Given the description of an element on the screen output the (x, y) to click on. 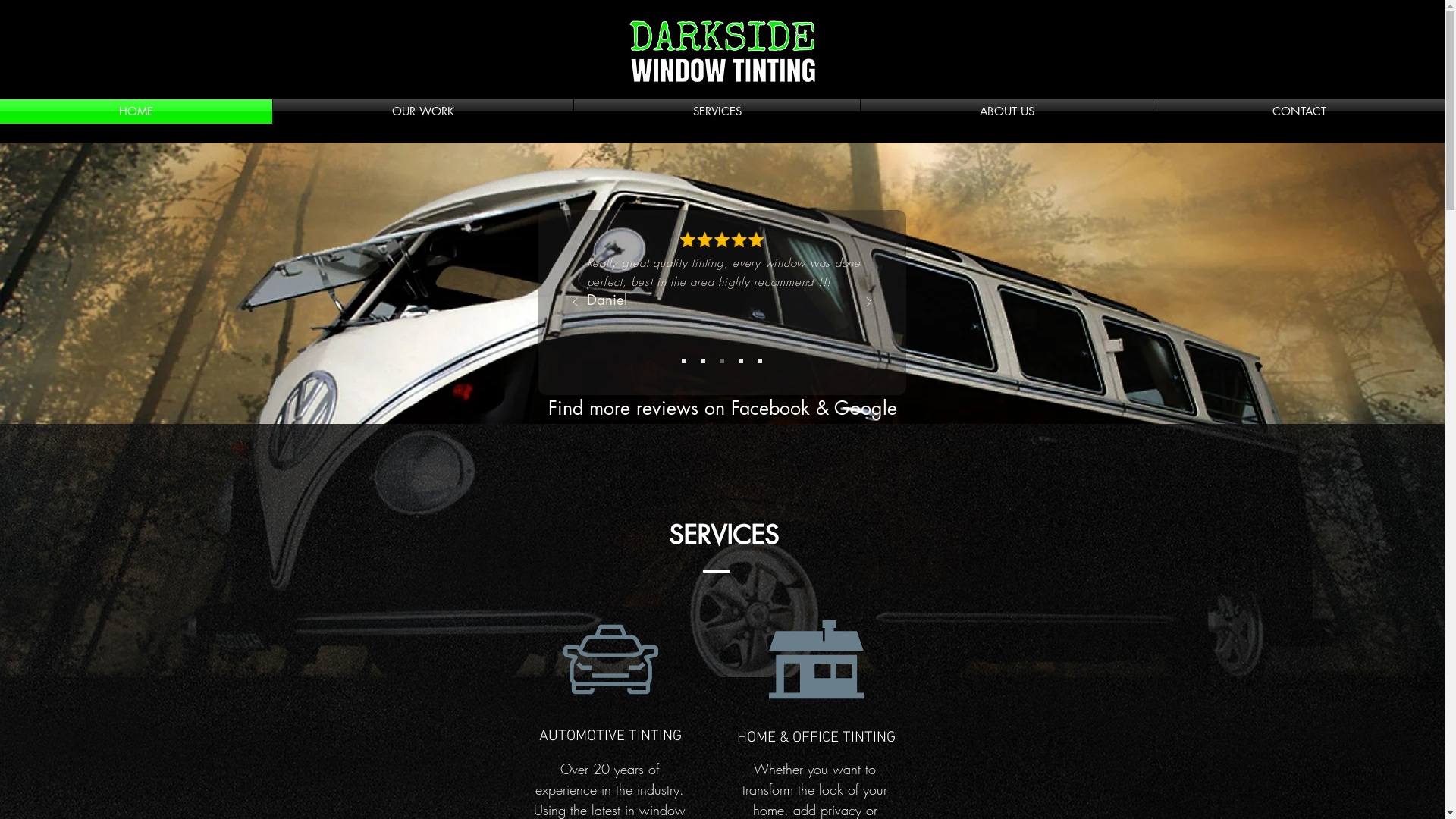
OUR WORK Element type: text (423, 111)
Natalie  Element type: text (612, 337)
ABOUT US Element type: text (1006, 111)
HOME Element type: text (136, 111)
CONTACT Element type: text (1298, 111)
SERVICES Element type: text (716, 111)
